Given the description of an element on the screen output the (x, y) to click on. 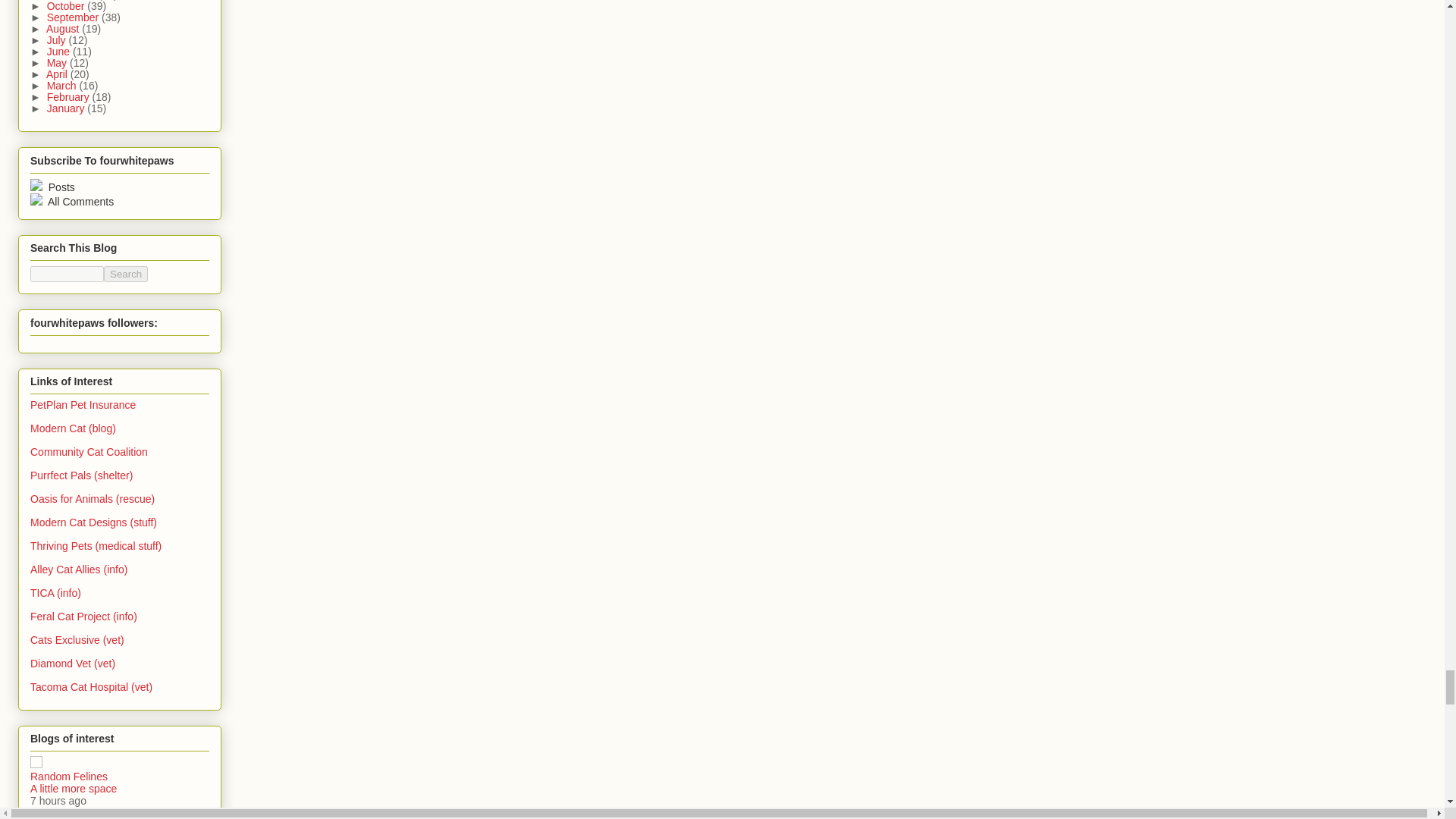
Search (125, 273)
Search (125, 273)
